Given the description of an element on the screen output the (x, y) to click on. 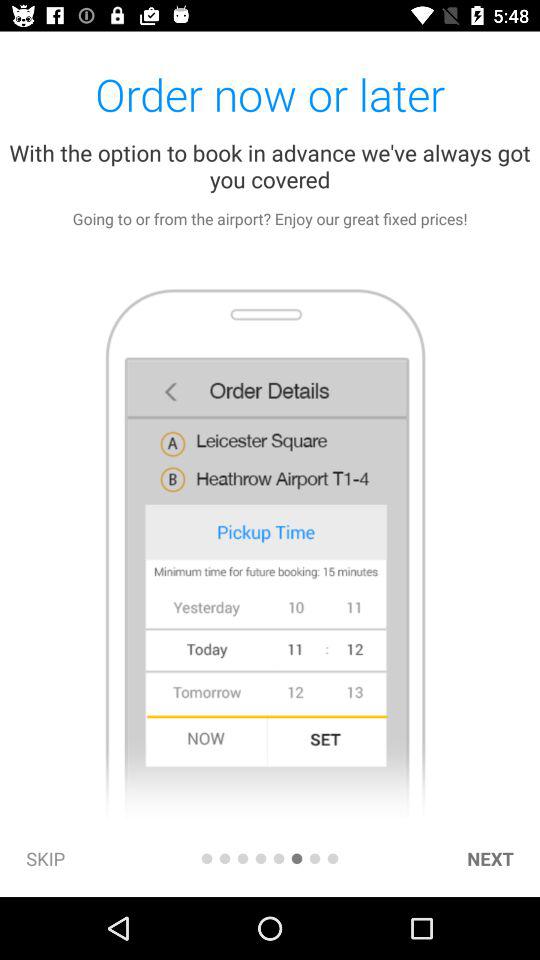
jump to the next icon (490, 858)
